Given the description of an element on the screen output the (x, y) to click on. 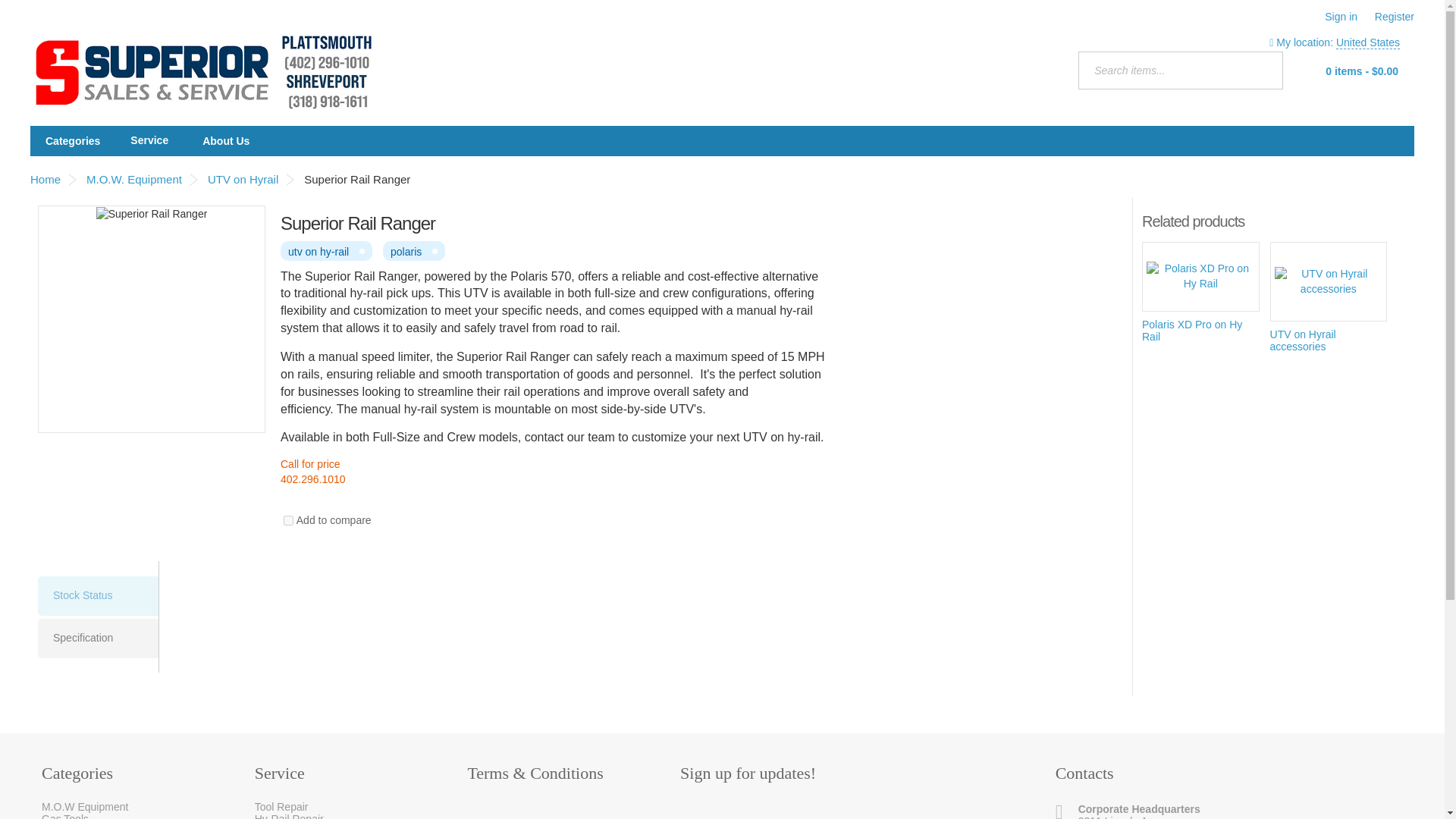
Home (202, 71)
Your cart (1351, 70)
on (288, 520)
Call for price: 402.296.1010 (554, 472)
